Given the description of an element on the screen output the (x, y) to click on. 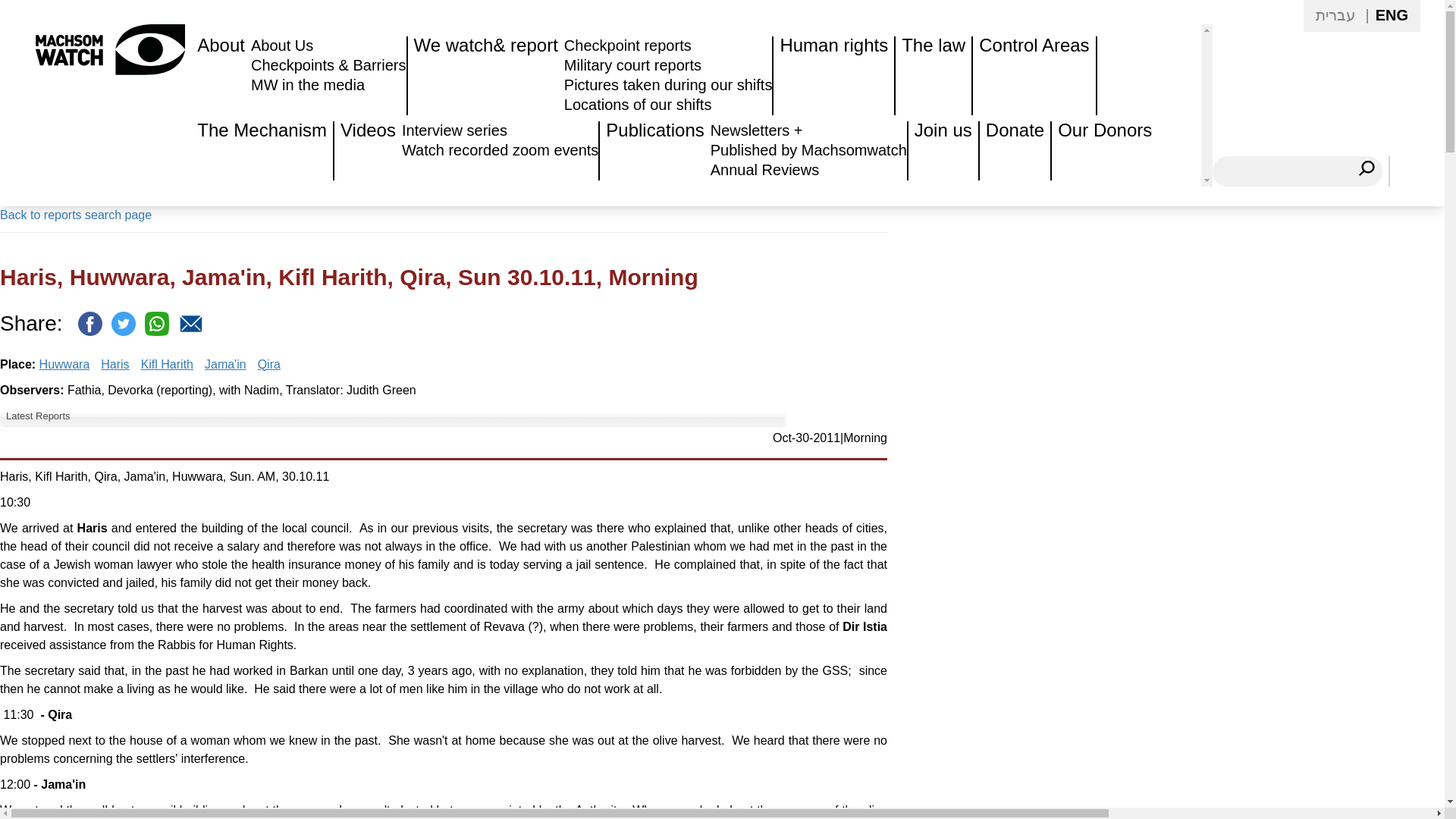
Publications (654, 150)
Control Areas (1033, 75)
Recorded events (499, 149)
Back to reports search page (75, 214)
Watch recorded zoom events (499, 149)
Videos (367, 150)
Control Areas A,B and C annexation areas de facto (1033, 75)
Checkpoint reports (627, 45)
Human rights (833, 75)
Human Rights deprivation: we see it and repot to the public (485, 75)
About (220, 75)
Annual Reviews (764, 169)
MW in the media (307, 84)
